Given the description of an element on the screen output the (x, y) to click on. 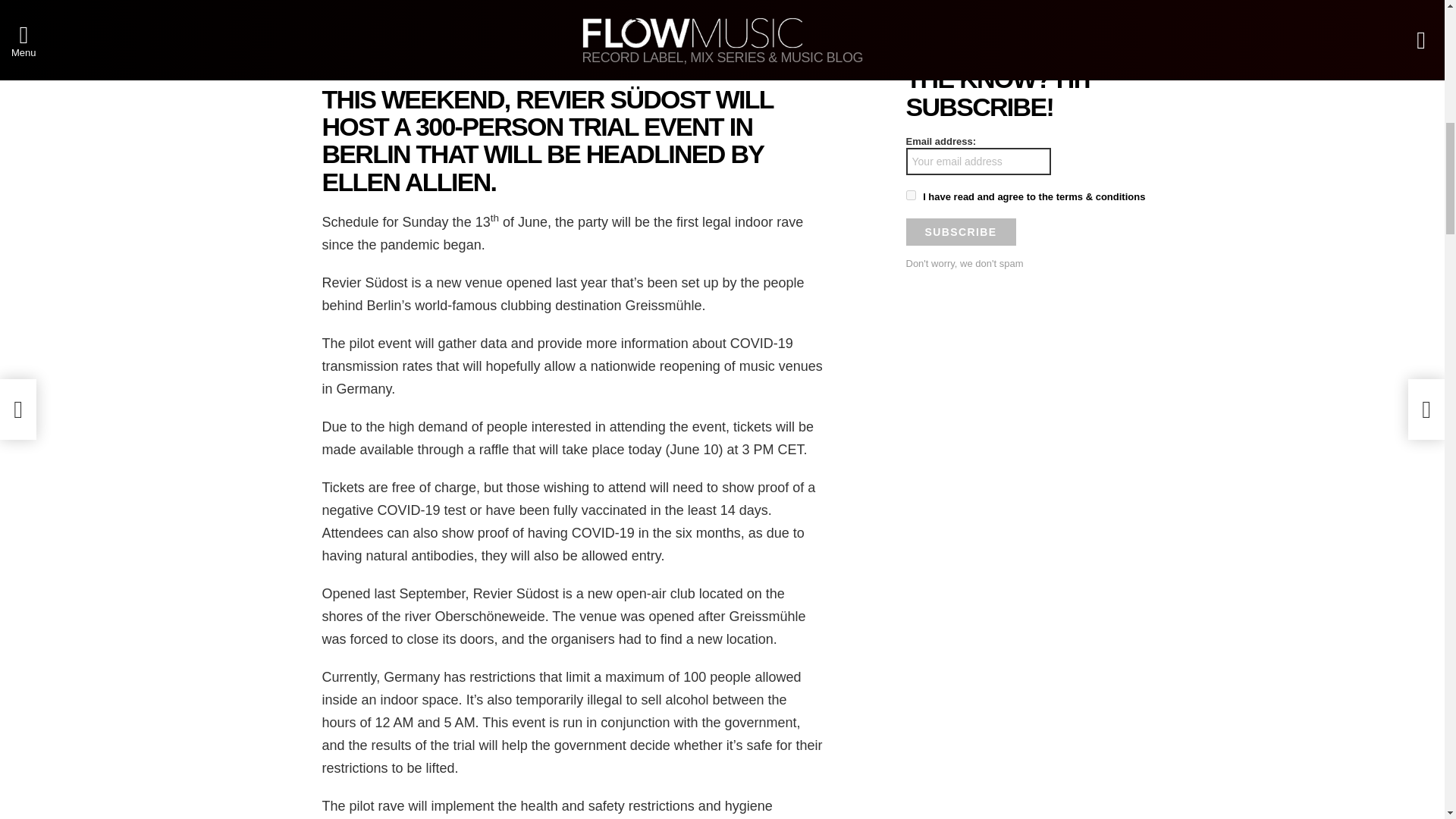
Tweet (719, 51)
1 (910, 194)
SUBSCRIBE (959, 231)
Share (430, 51)
